Given the description of an element on the screen output the (x, y) to click on. 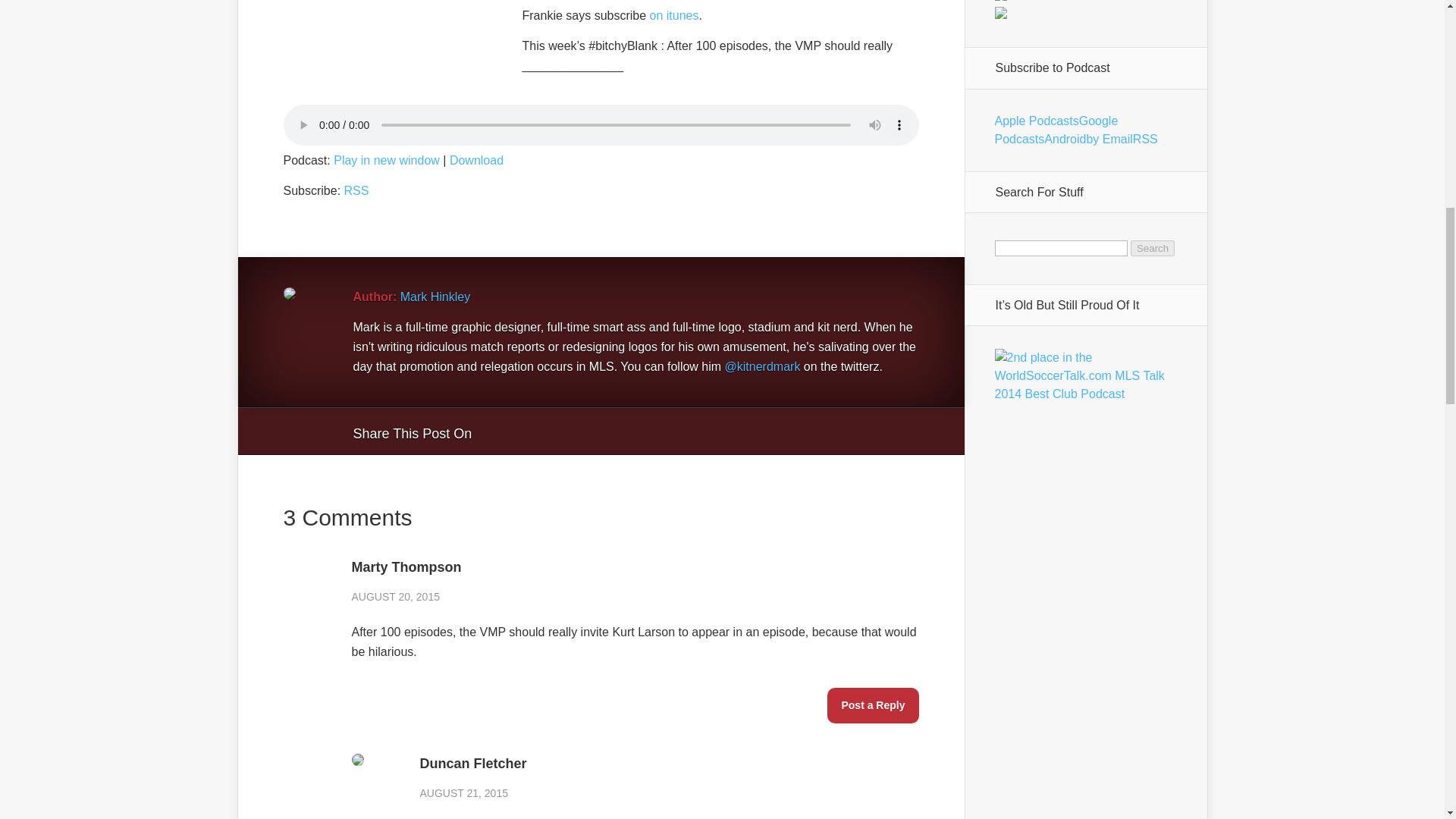
Twitter (555, 431)
Search (1152, 248)
Subscribe by Email (1109, 138)
Subscribe via RSS (1144, 138)
Download (476, 160)
Mark Hinkley (435, 296)
Subscribe on Android (1064, 138)
Play in new window (386, 160)
Subscribe on Apple Podcasts (1036, 120)
RSS (356, 190)
on itunes (673, 15)
Google (498, 431)
Play in new window (386, 160)
Subscribe on Google Podcasts (1056, 129)
Facebook (526, 431)
